Given the description of an element on the screen output the (x, y) to click on. 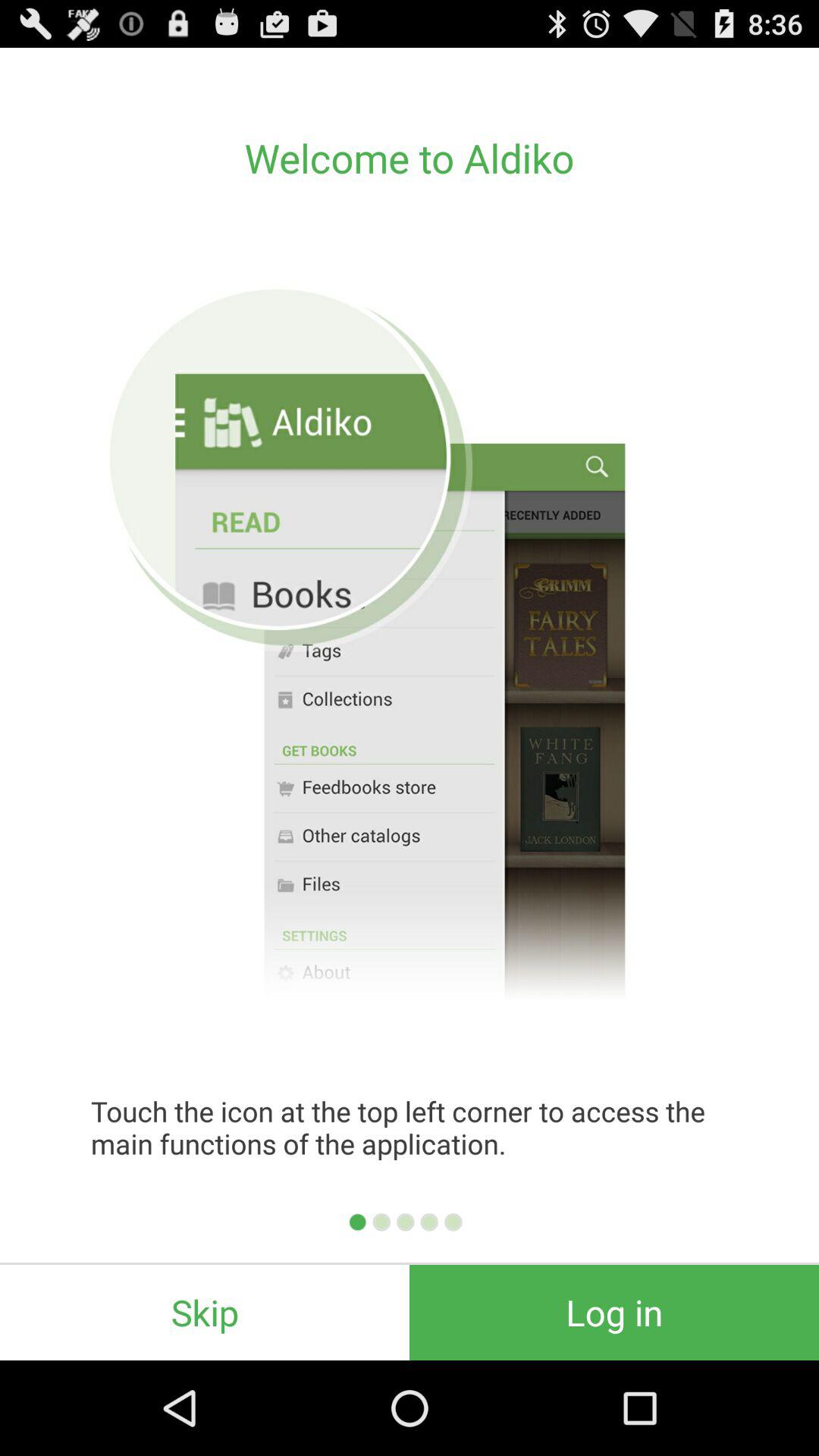
click item to the right of the skip (614, 1312)
